Given the description of an element on the screen output the (x, y) to click on. 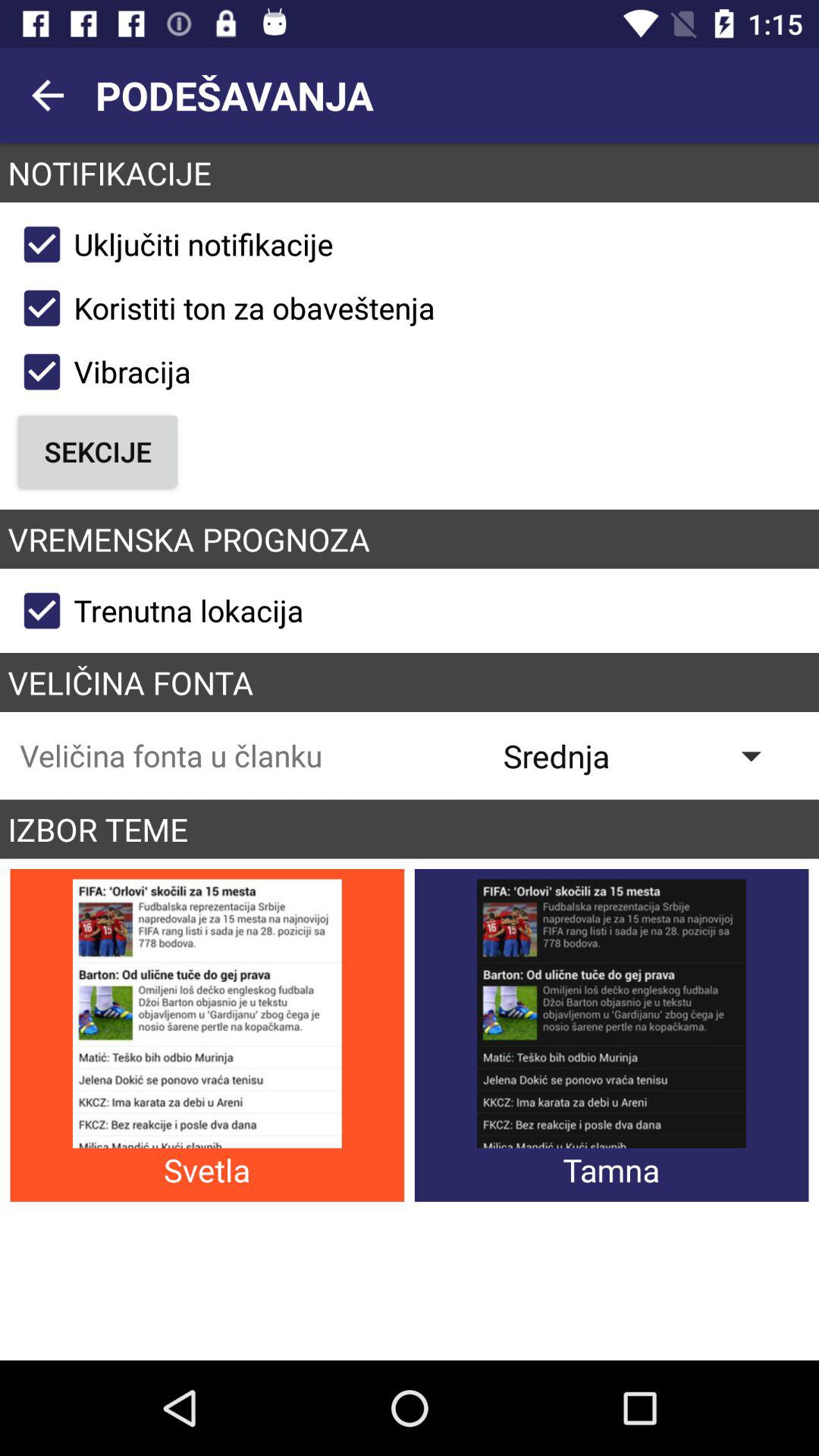
turn off the vibracija icon (100, 371)
